Given the description of an element on the screen output the (x, y) to click on. 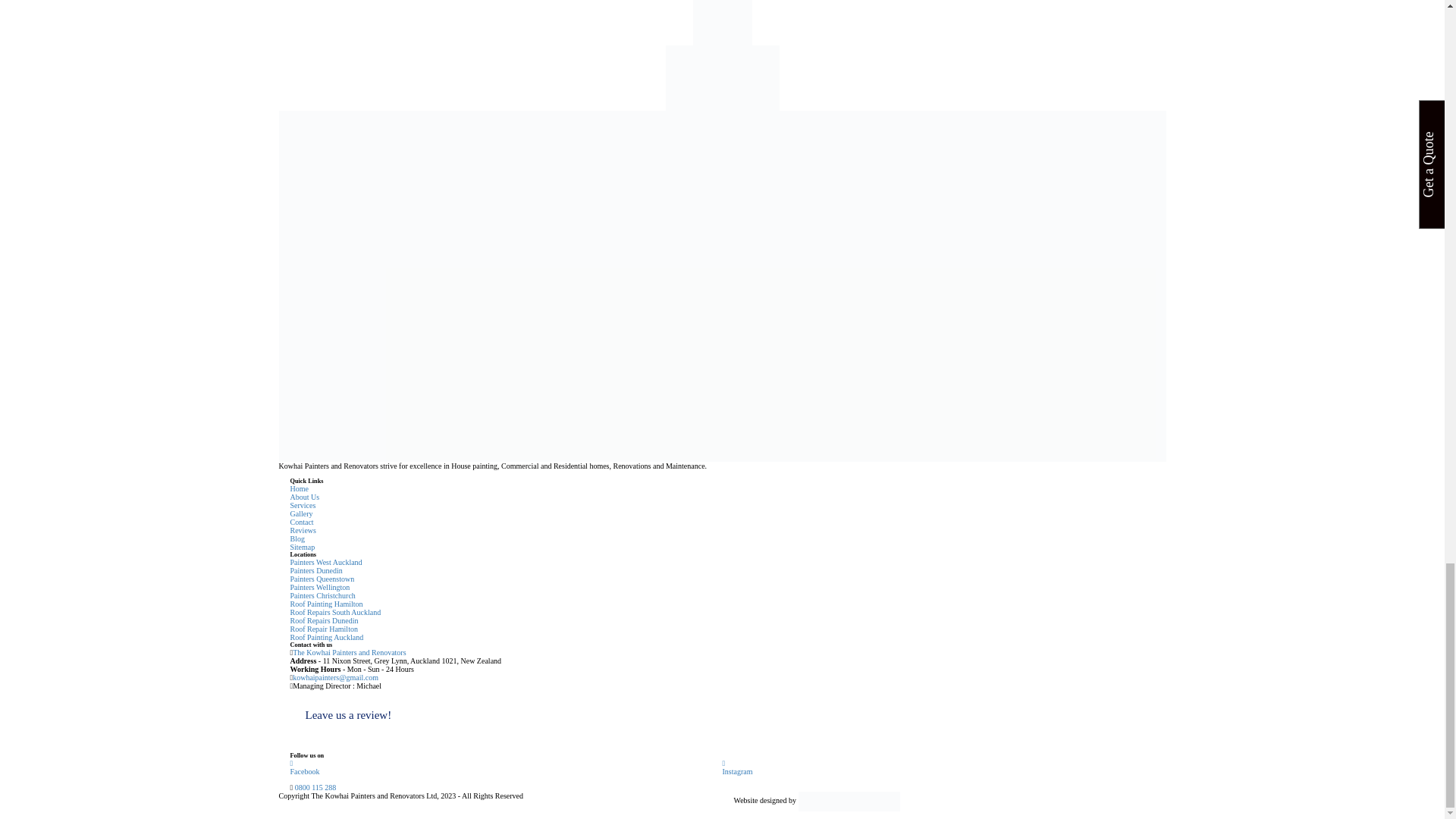
About Us (303, 497)
Gallery (301, 513)
Services (302, 505)
Blog (296, 538)
Sitemap (301, 546)
Contact (301, 521)
Home (298, 488)
Reviews (302, 530)
